Given the description of an element on the screen output the (x, y) to click on. 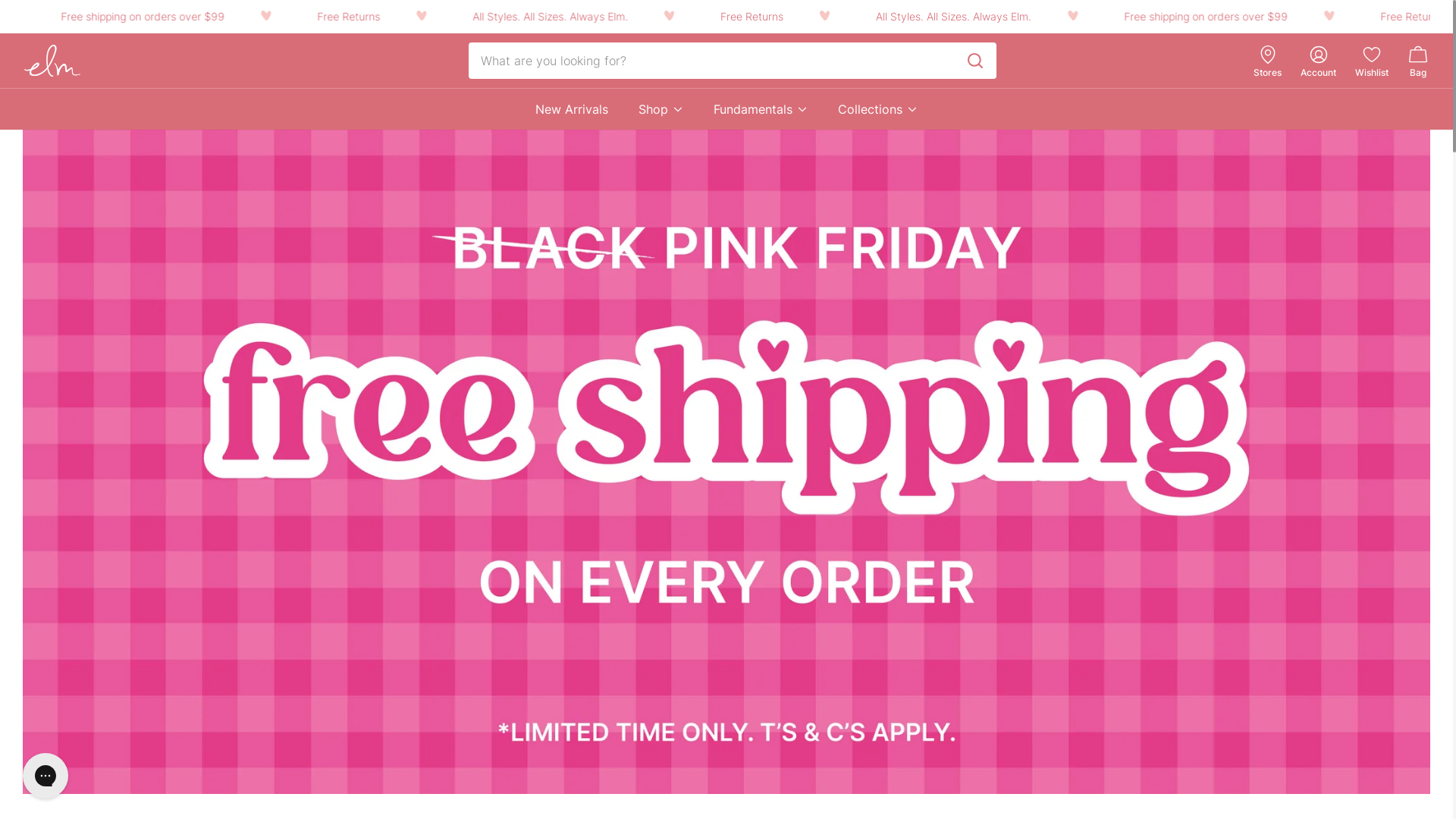
Collections
      
     Element type: text (877, 108)
Location Element type: hover (1267, 54)
Shop
      
     Element type: text (660, 108)
Account Dashboard Element type: hover (1317, 54)
New Arrivals Element type: text (571, 108)
Account Element type: text (1318, 72)
Wishlist Element type: text (1371, 72)
Bag Element type: text (1417, 60)
Fundamentals
      
     Element type: text (760, 108)
Stores Element type: text (1267, 72)
Gorgias live chat messenger Element type: hover (45, 775)
Elm Lifestyle Element type: hover (52, 60)
